Given the description of an element on the screen output the (x, y) to click on. 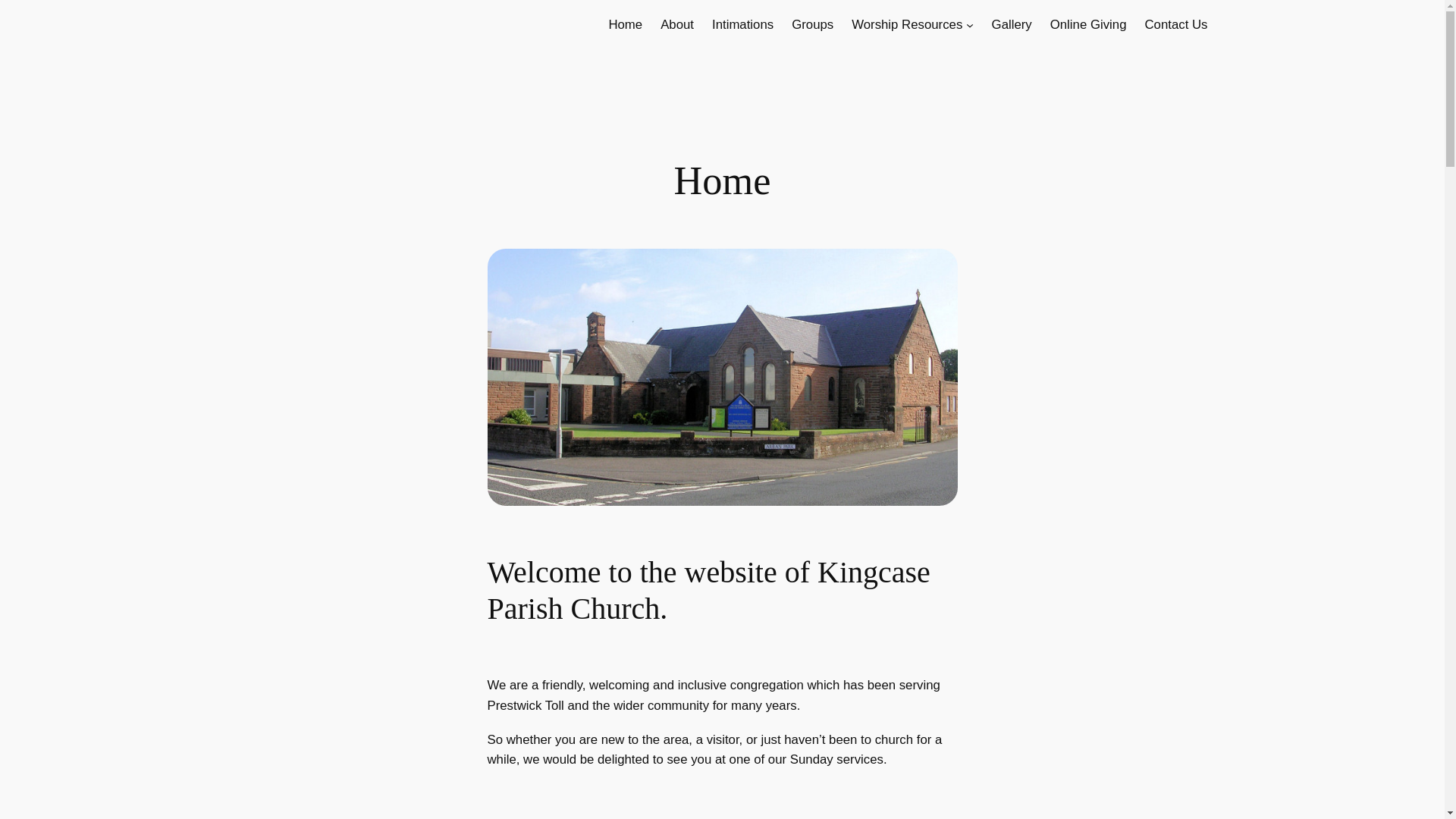
Intimations (742, 25)
Worship Resources (906, 25)
Contact Us (1175, 25)
Groups (812, 25)
Home (625, 25)
Online Giving (1087, 25)
About (677, 25)
Gallery (1011, 25)
